Given the description of an element on the screen output the (x, y) to click on. 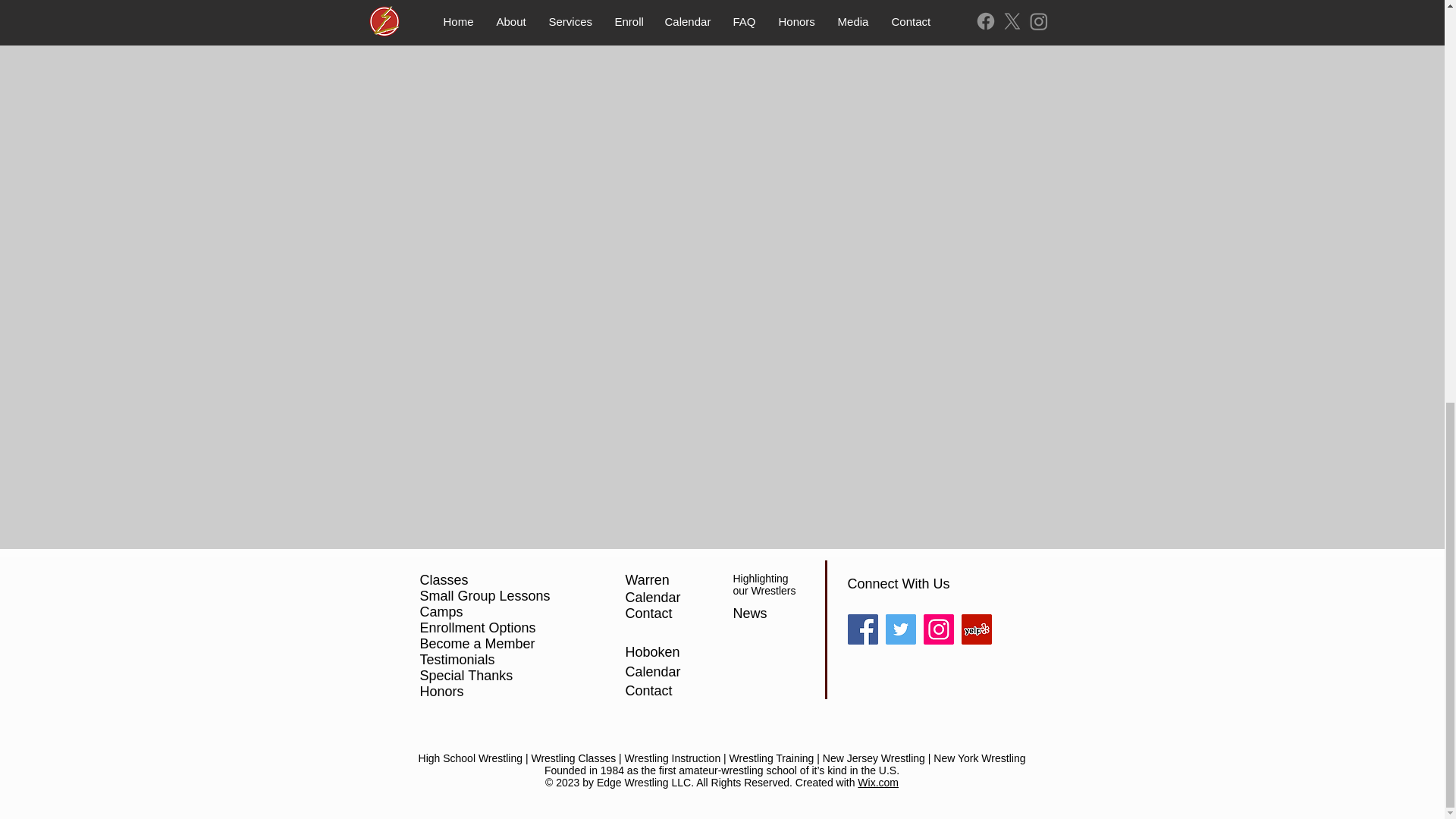
Enrollment Options (477, 627)
Contact (647, 613)
Special Thanks (466, 675)
Classes (444, 580)
Small Group Lessons (485, 595)
Camps (441, 611)
Testimonials (457, 659)
Honors (442, 691)
Calendar (651, 597)
News (749, 613)
